Given the description of an element on the screen output the (x, y) to click on. 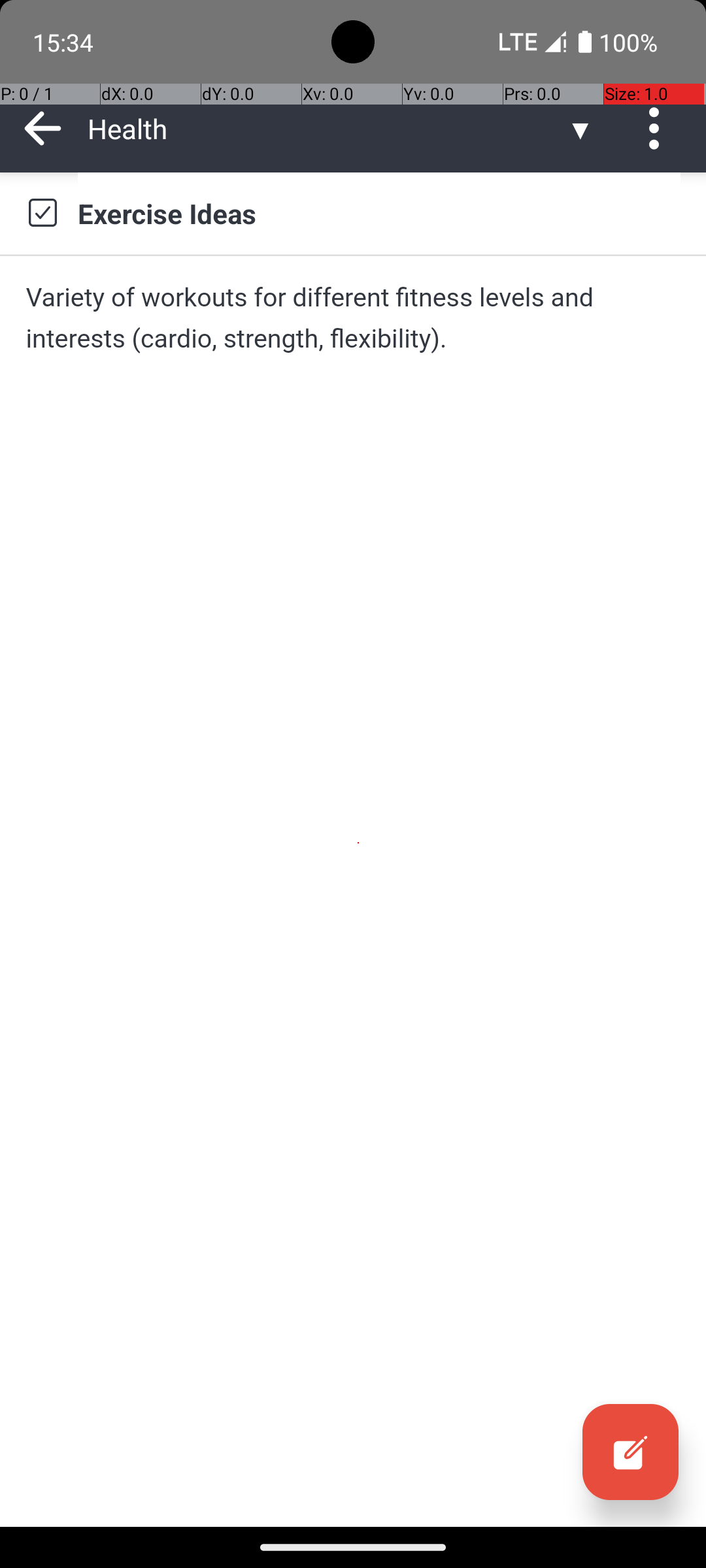
Exercise Ideas Element type: android.widget.EditText (378, 213)
Variety of workouts for different fitness levels and interests (cardio, strength, flexibility). Element type: android.widget.TextView (352, 317)
